Given the description of an element on the screen output the (x, y) to click on. 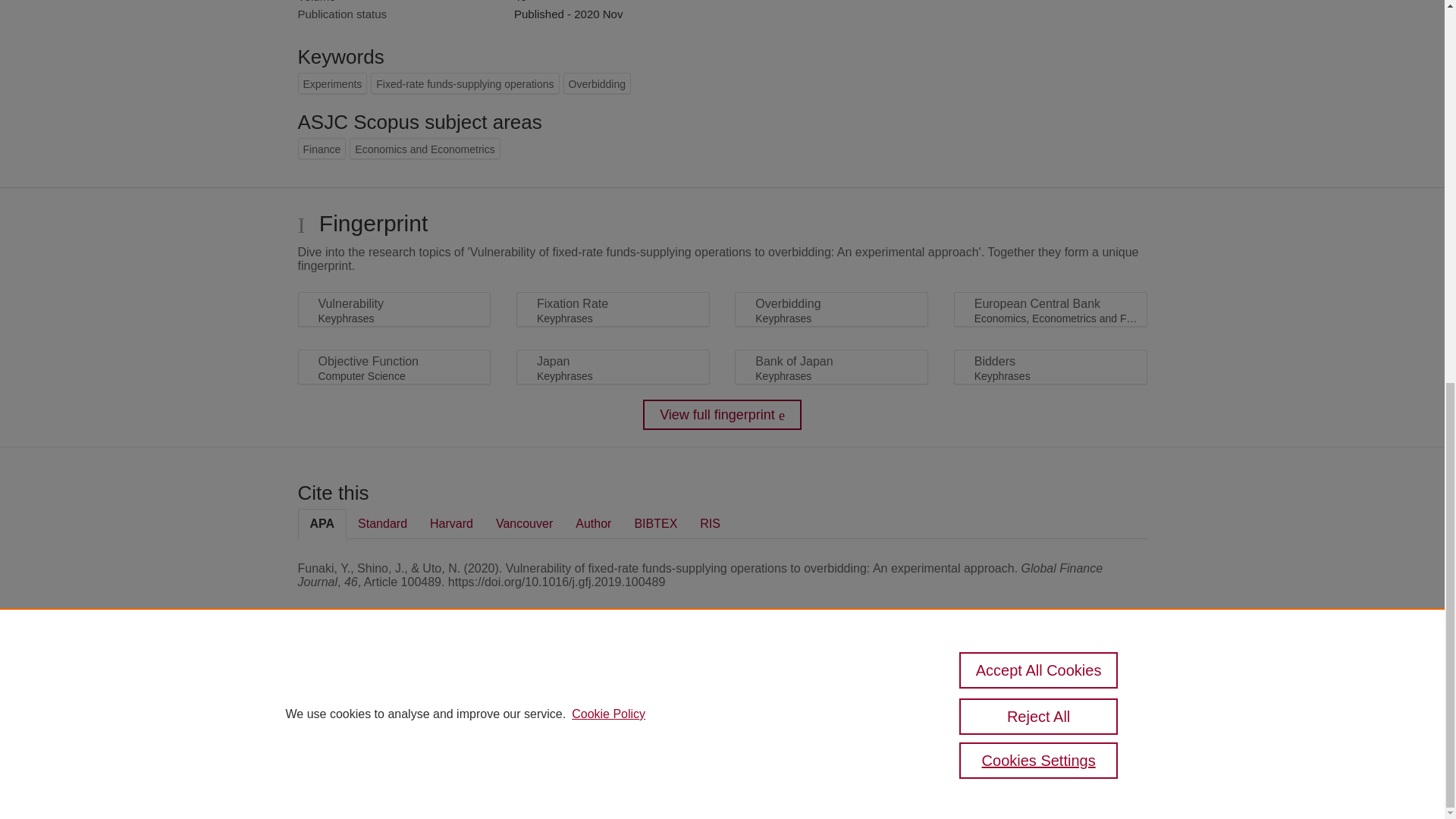
Cookies Settings (334, 761)
About web accessibility (1088, 693)
use of cookies (796, 740)
View full fingerprint (722, 414)
Pure (362, 687)
Elsevier B.V. (506, 708)
Scopus (394, 687)
Log in to Pure (327, 781)
